Given the description of an element on the screen output the (x, y) to click on. 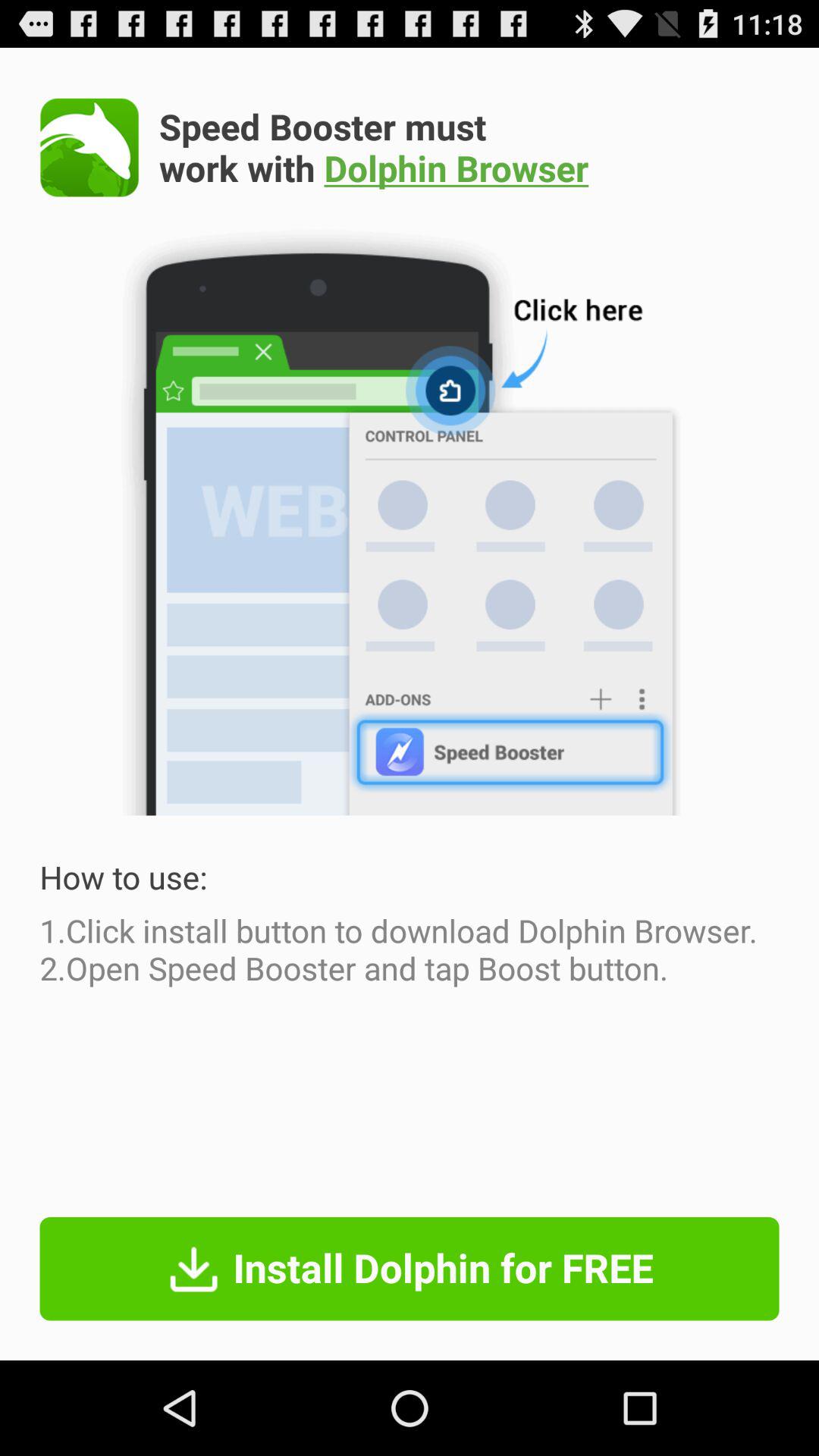
turn on app to the left of the speed booster must (89, 147)
